Given the description of an element on the screen output the (x, y) to click on. 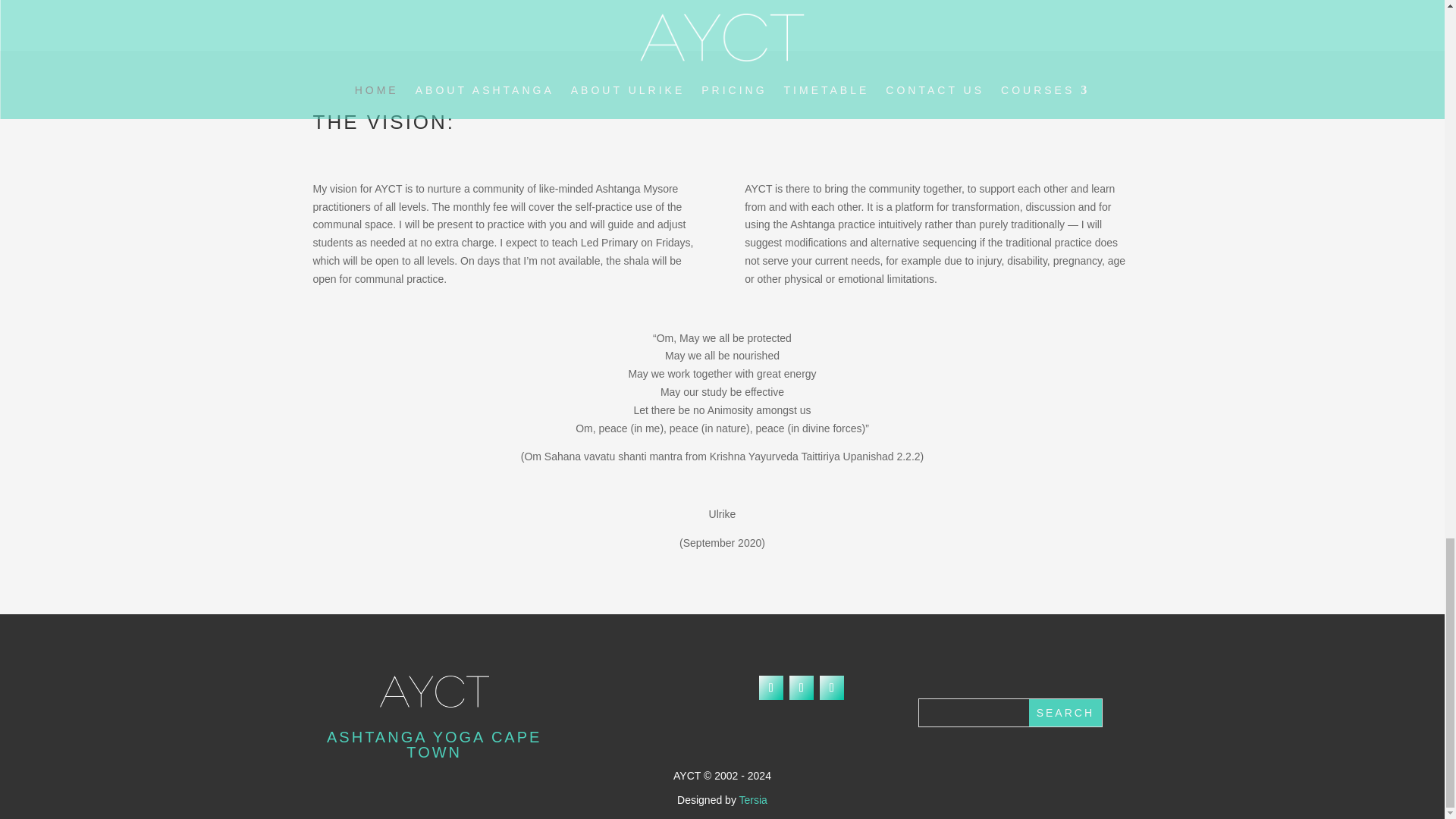
Tersia (753, 799)
Follow on Facebook (770, 687)
Follow on Instagram (831, 687)
Search (1065, 712)
Search (1065, 712)
white-logo (434, 691)
Search (1065, 712)
Follow on X (801, 687)
